Given the description of an element on the screen output the (x, y) to click on. 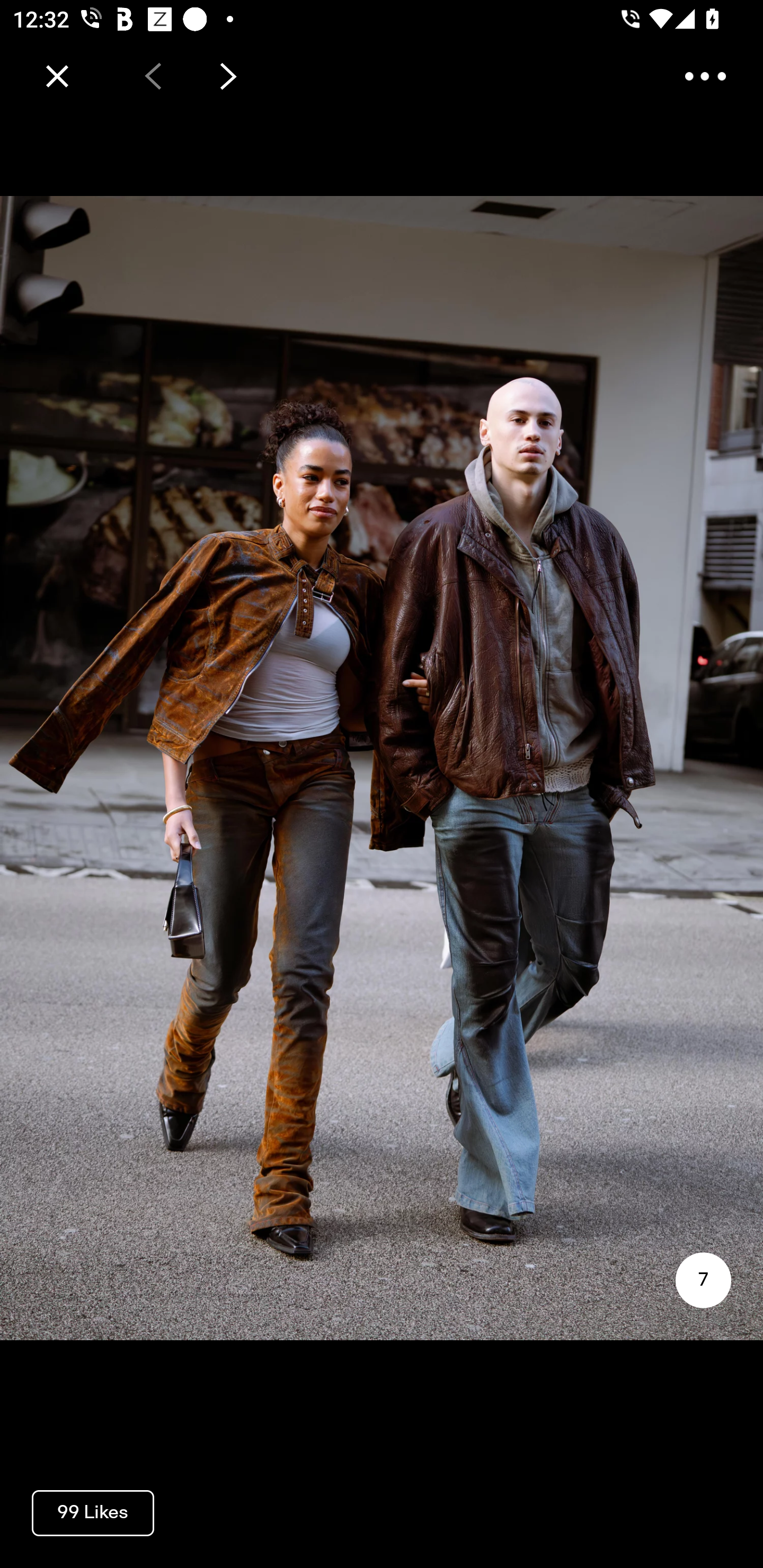
7 (702, 1279)
99 Likes (93, 1512)
